Given the description of an element on the screen output the (x, y) to click on. 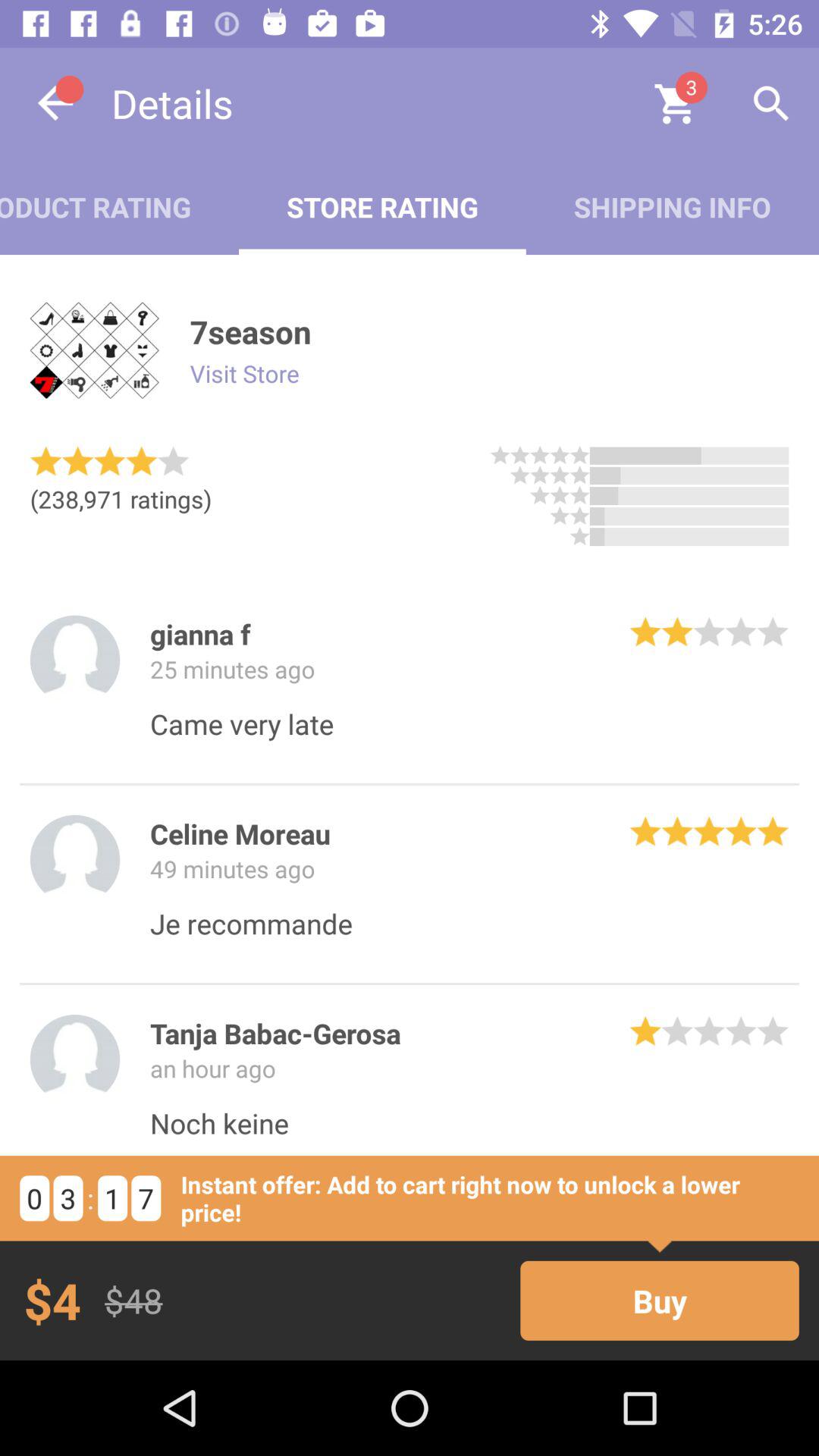
launch icon above 7season (672, 206)
